Given the description of an element on the screen output the (x, y) to click on. 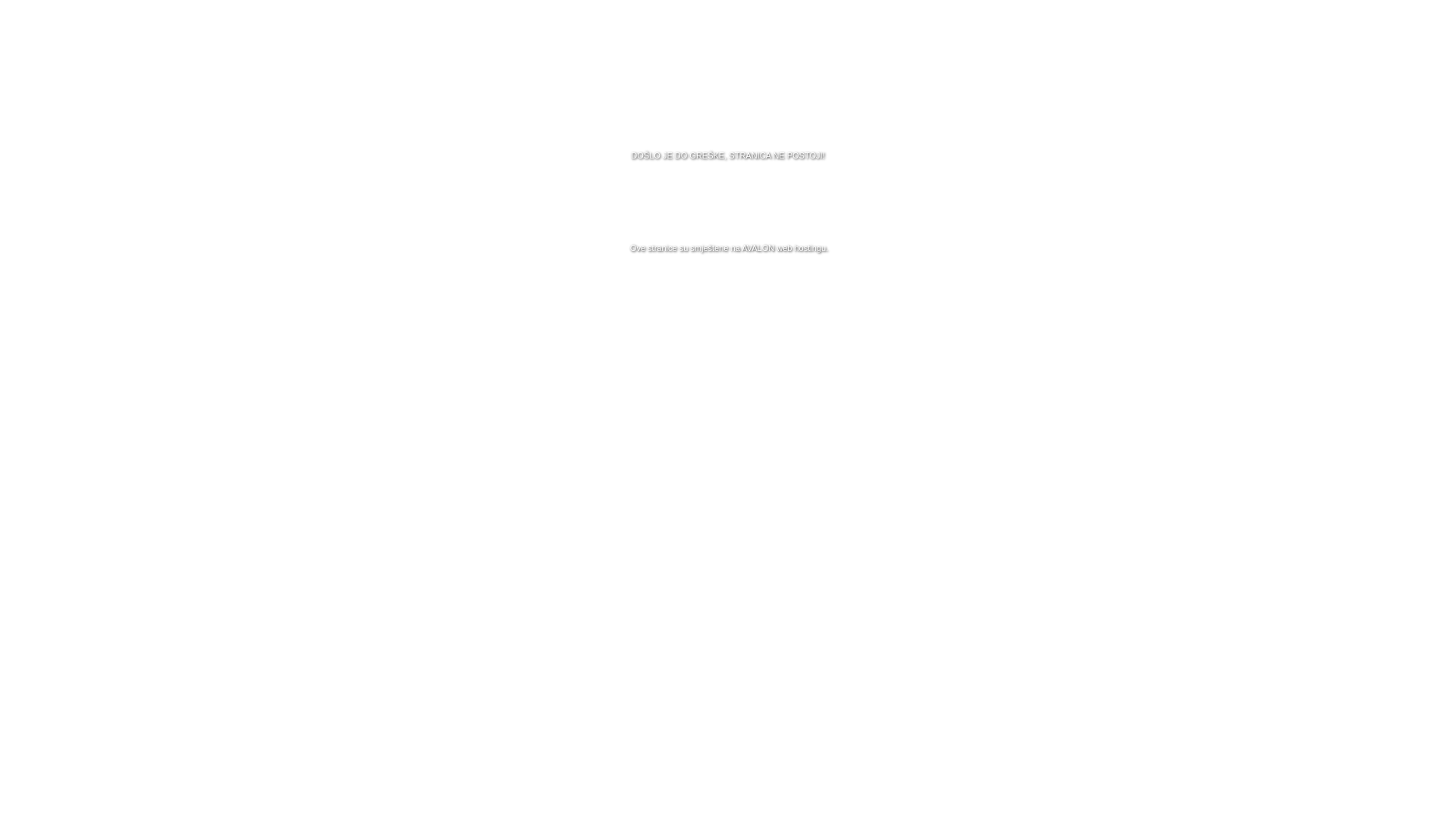
AVALON web hostingu Element type: text (783, 247)
